Given the description of an element on the screen output the (x, y) to click on. 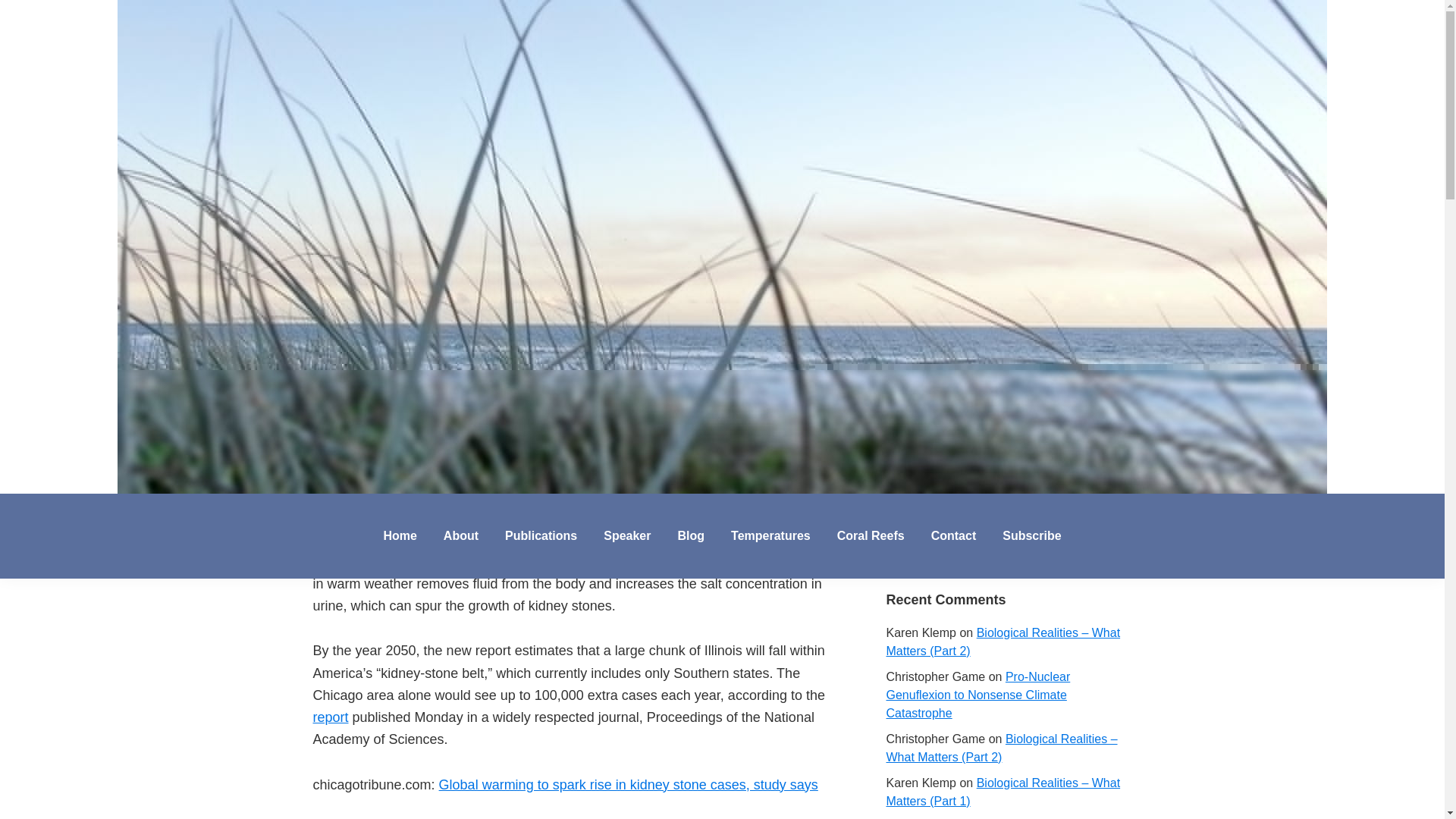
Speaker (627, 535)
report (330, 717)
Blog (690, 535)
Jennifer Marohasy (150, 508)
About (460, 535)
Coral Reefs (870, 535)
Contact (954, 535)
jennifer (425, 82)
